Given the description of an element on the screen output the (x, y) to click on. 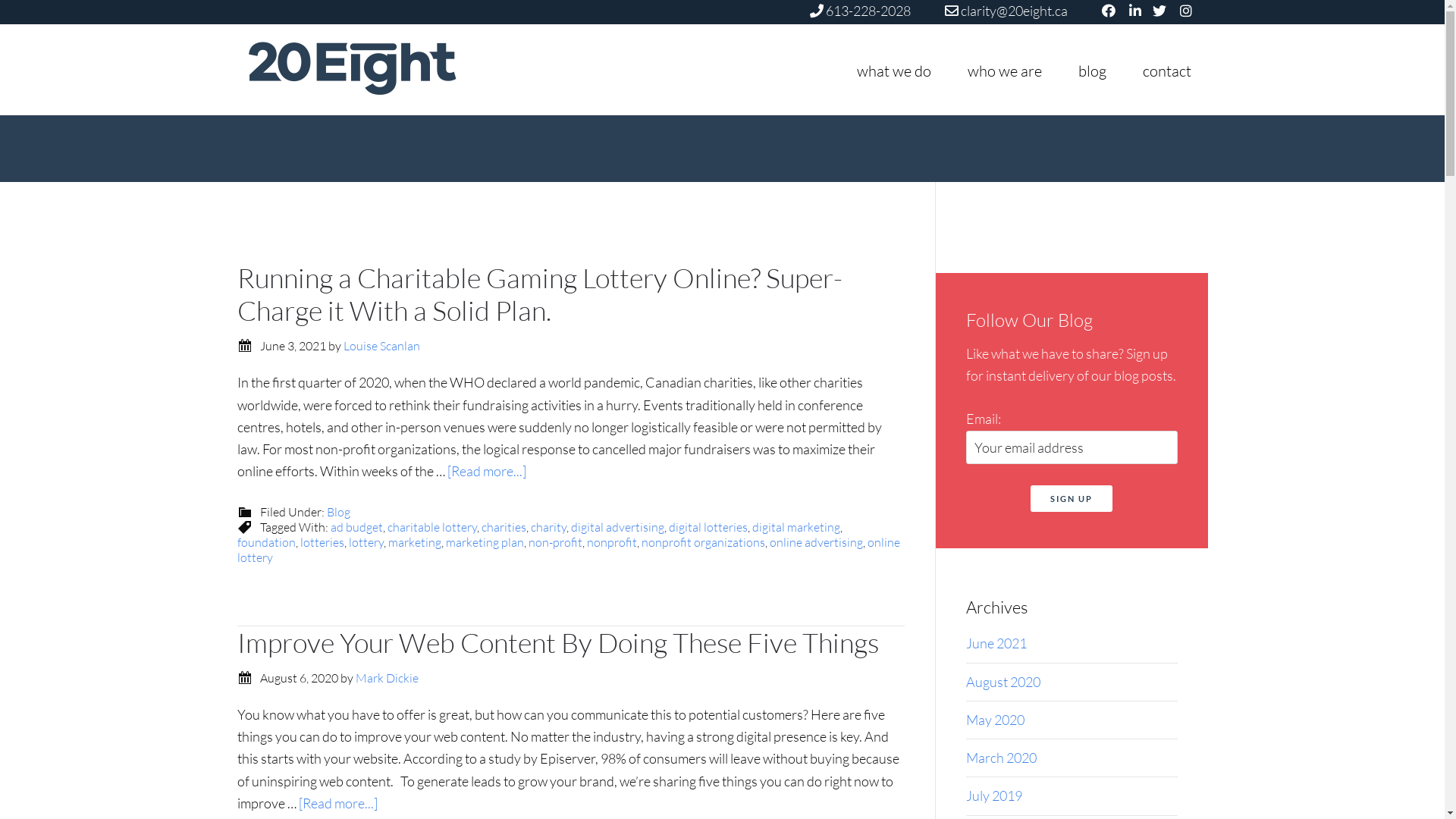
July 2019 Element type: text (994, 795)
Louise Scanlan Element type: text (380, 345)
digital lotteries Element type: text (707, 526)
online lottery Element type: text (567, 549)
Sign up Element type: text (1071, 498)
lottery Element type: text (365, 541)
[Read more...] Element type: text (337, 802)
June 2021 Element type: text (996, 642)
nonprofit organizations Element type: text (703, 541)
blog Element type: text (1092, 71)
marketing plan Element type: text (484, 541)
non-profit Element type: text (554, 541)
Blog Element type: text (337, 511)
March 2020 Element type: text (1001, 757)
who we are Element type: text (1004, 71)
Improve Your Web Content By Doing These Five Things Element type: text (557, 641)
digital advertising Element type: text (616, 526)
digital marketing Element type: text (796, 526)
charitable lottery Element type: text (431, 526)
contact Element type: text (1166, 71)
August 2020 Element type: text (1003, 681)
what we do Element type: text (893, 71)
20EIGHT Element type: text (372, 67)
marketing Element type: text (414, 541)
online advertising Element type: text (815, 541)
ad budget Element type: text (356, 526)
foundation Element type: text (265, 541)
nonprofit Element type: text (611, 541)
Mark Dickie Element type: text (385, 677)
May 2020 Element type: text (995, 719)
clarity@20eight.ca Element type: text (1005, 10)
charity Element type: text (548, 526)
[Read more...] Element type: text (486, 470)
lotteries Element type: text (322, 541)
charities Element type: text (502, 526)
613-228-2028 Element type: text (859, 10)
